Given the description of an element on the screen output the (x, y) to click on. 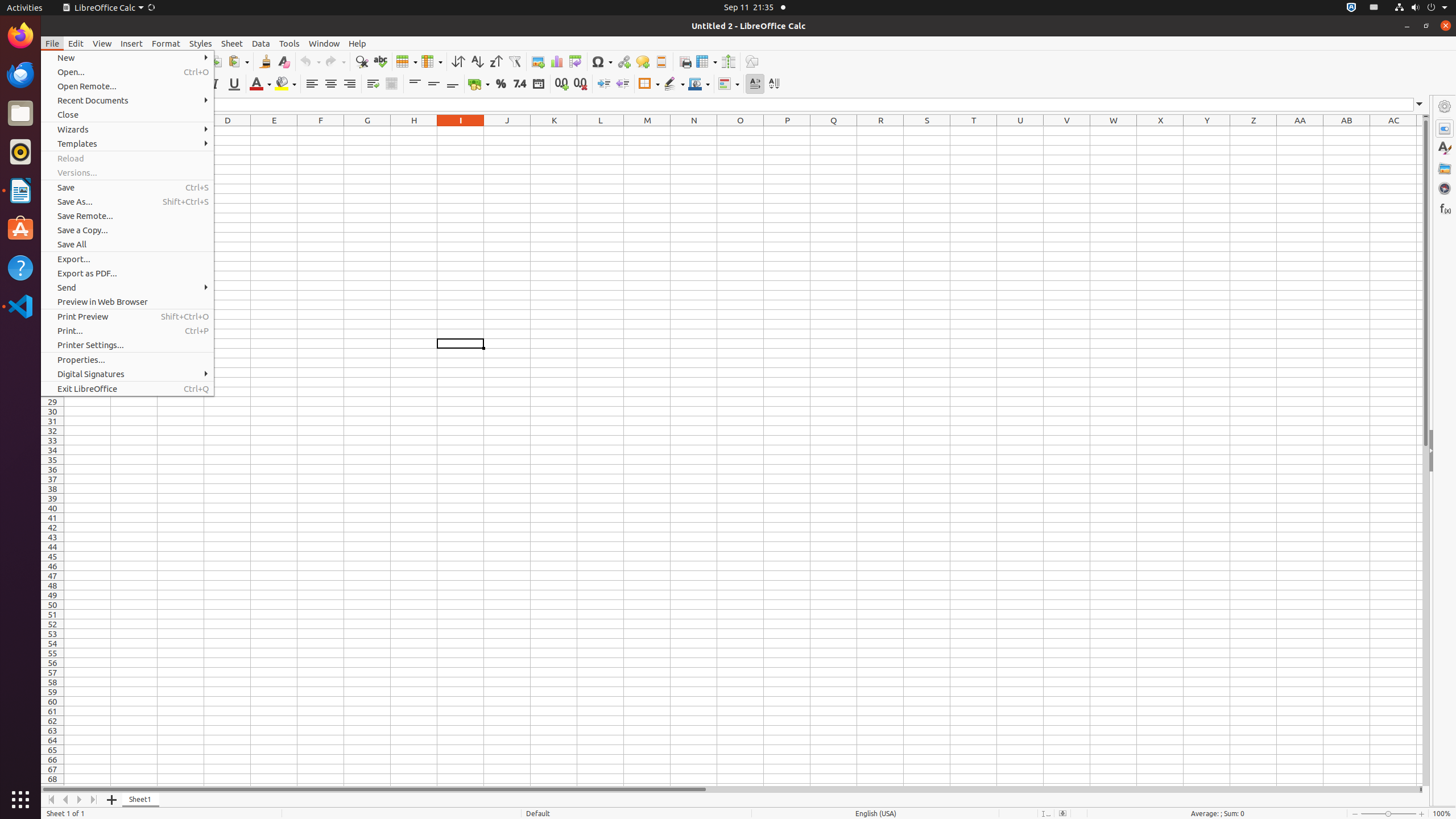
Conditional Element type: push-button (728, 83)
Delete Decimal Place Element type: push-button (580, 83)
Open... Element type: menu-item (126, 71)
Percent Element type: push-button (500, 83)
Column Element type: push-button (431, 61)
